Given the description of an element on the screen output the (x, y) to click on. 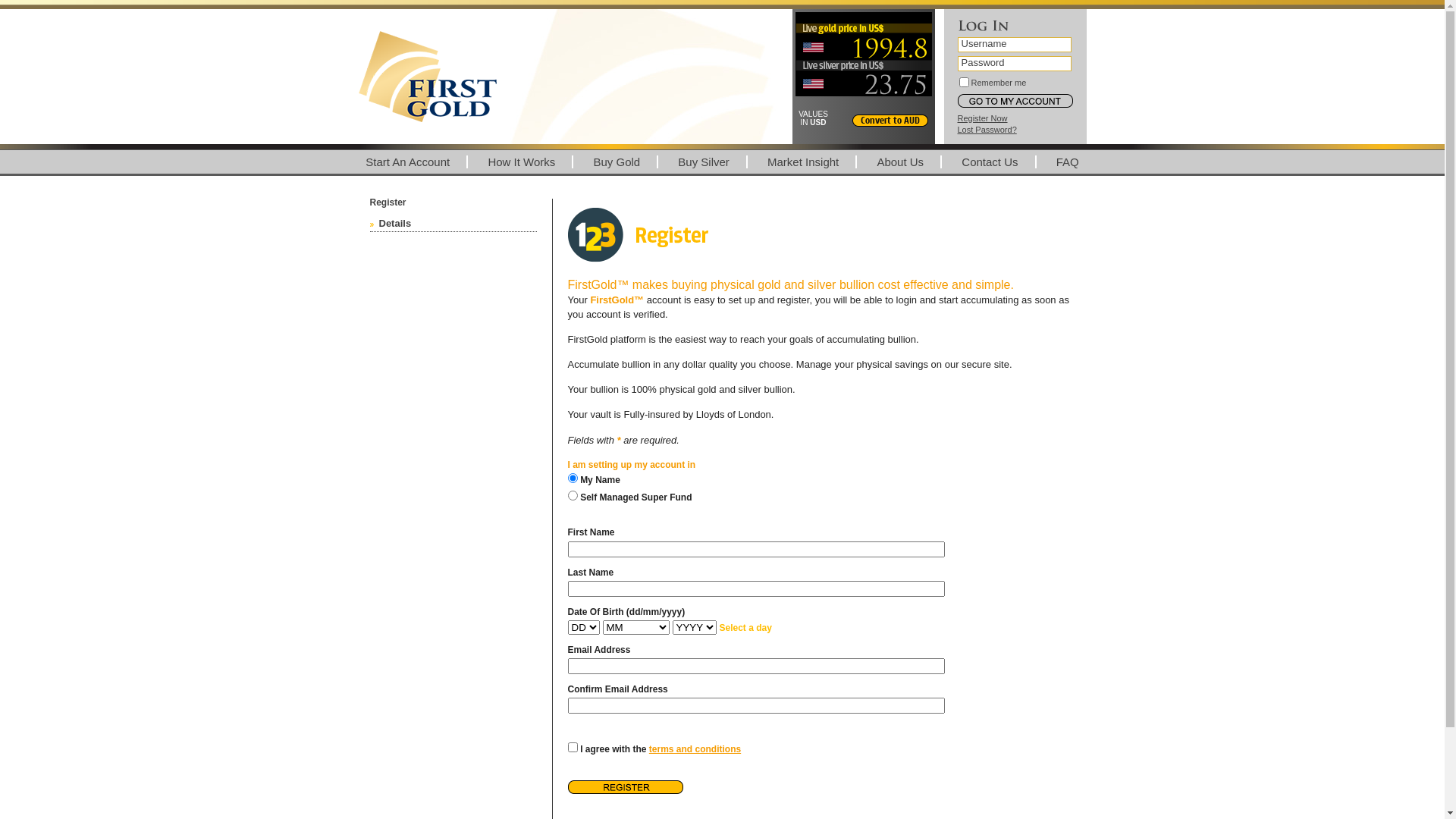
Convert to AUD Element type: text (890, 120)
About Us Element type: text (900, 161)
Buy Silver Element type: text (704, 161)
Market Insight Element type: text (803, 161)
Register Now Element type: text (982, 117)
Contact Us Element type: text (989, 161)
terms and conditions Element type: text (694, 748)
FAQ Element type: text (1067, 161)
Lost Password? Element type: text (986, 129)
Buy Gold Element type: text (617, 161)
Start An Account Element type: text (407, 161)
How It Works Element type: text (521, 161)
